Given the description of an element on the screen output the (x, y) to click on. 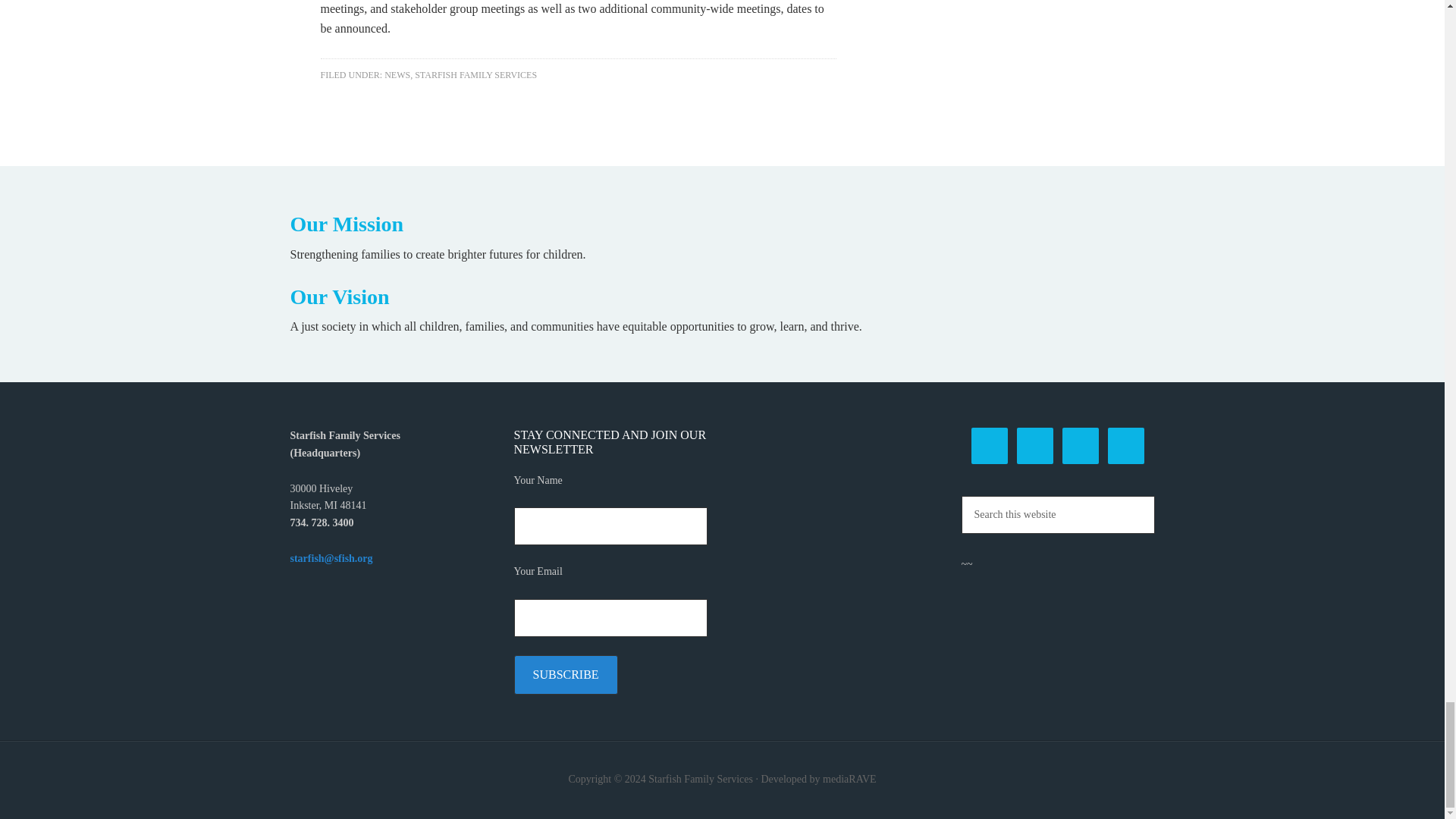
mediaRAVE (849, 778)
Subscribe (565, 674)
STARFISH FAMILY SERVICES (475, 74)
NEWS (397, 74)
